Given the description of an element on the screen output the (x, y) to click on. 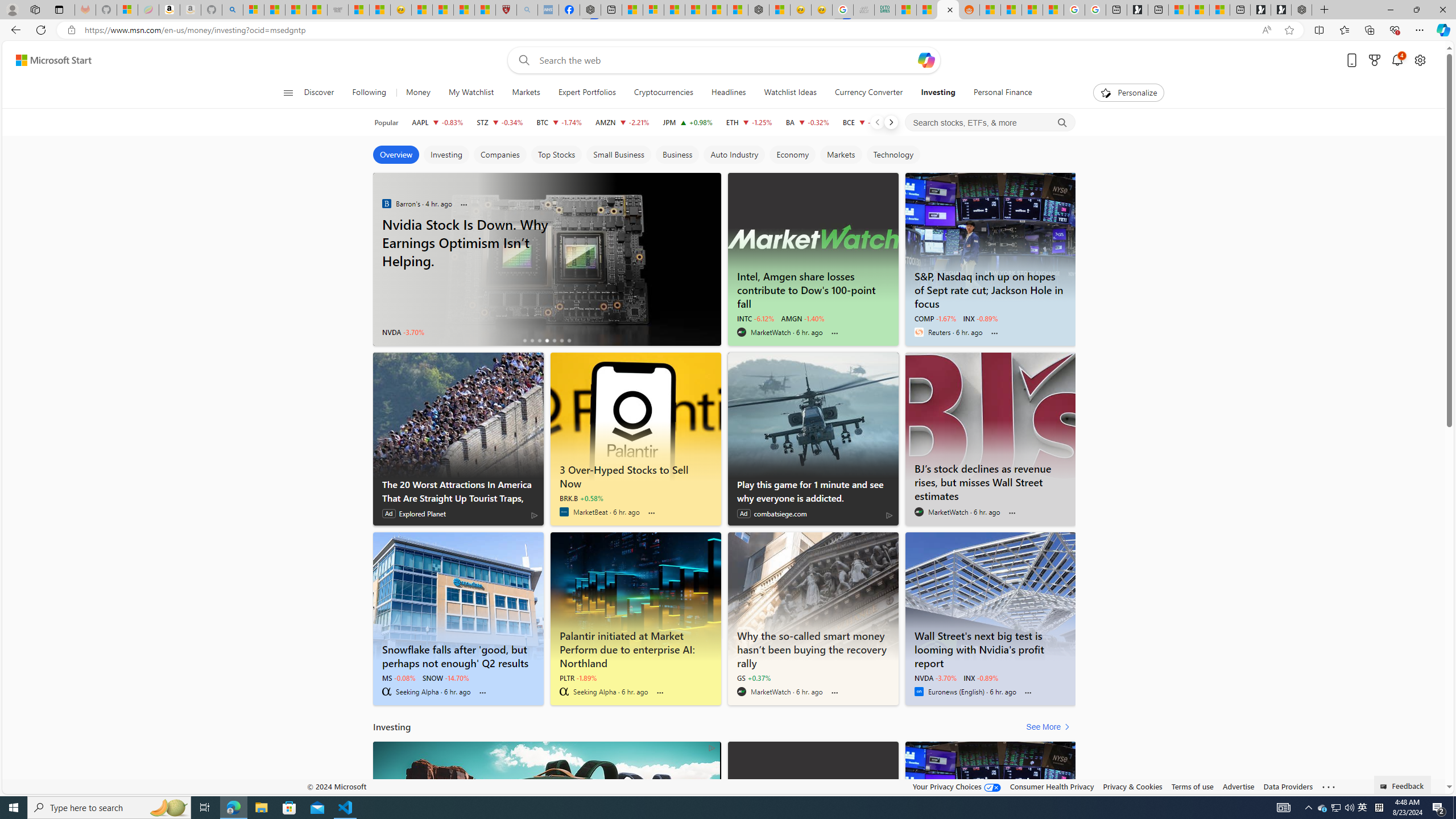
Refresh (40, 29)
See more (1328, 787)
Settings and more (Alt+F) (1419, 29)
Class: button-glyph (287, 92)
AAPL APPLE INC. decrease 224.53 -1.87 -0.83% (437, 122)
3 Over-Hyped Stocks to Sell Now - MarketBeat (635, 416)
New Tab (1324, 9)
Privacy & Cookies (1131, 785)
Currency Converter (868, 92)
Terms of use (1192, 786)
Advertise (1238, 786)
